Given the description of an element on the screen output the (x, y) to click on. 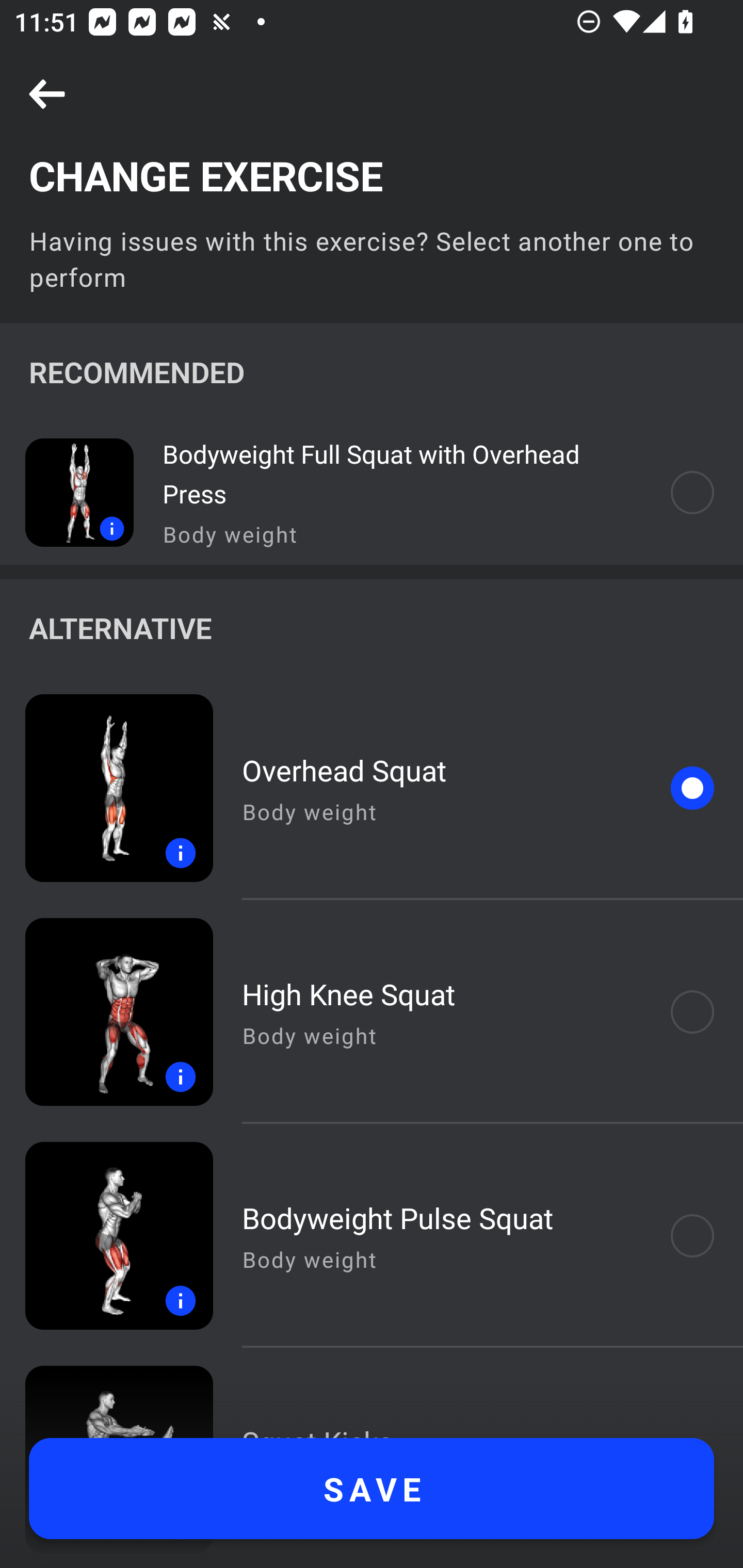
Navigation icon (46, 94)
details (66, 492)
details Overhead Squat Body weight (371, 787)
details (106, 787)
details High Knee Squat Body weight (371, 1012)
details (106, 1012)
details Bodyweight Pulse Squat Body weight (371, 1236)
details (106, 1236)
SAVE (371, 1488)
